Given the description of an element on the screen output the (x, y) to click on. 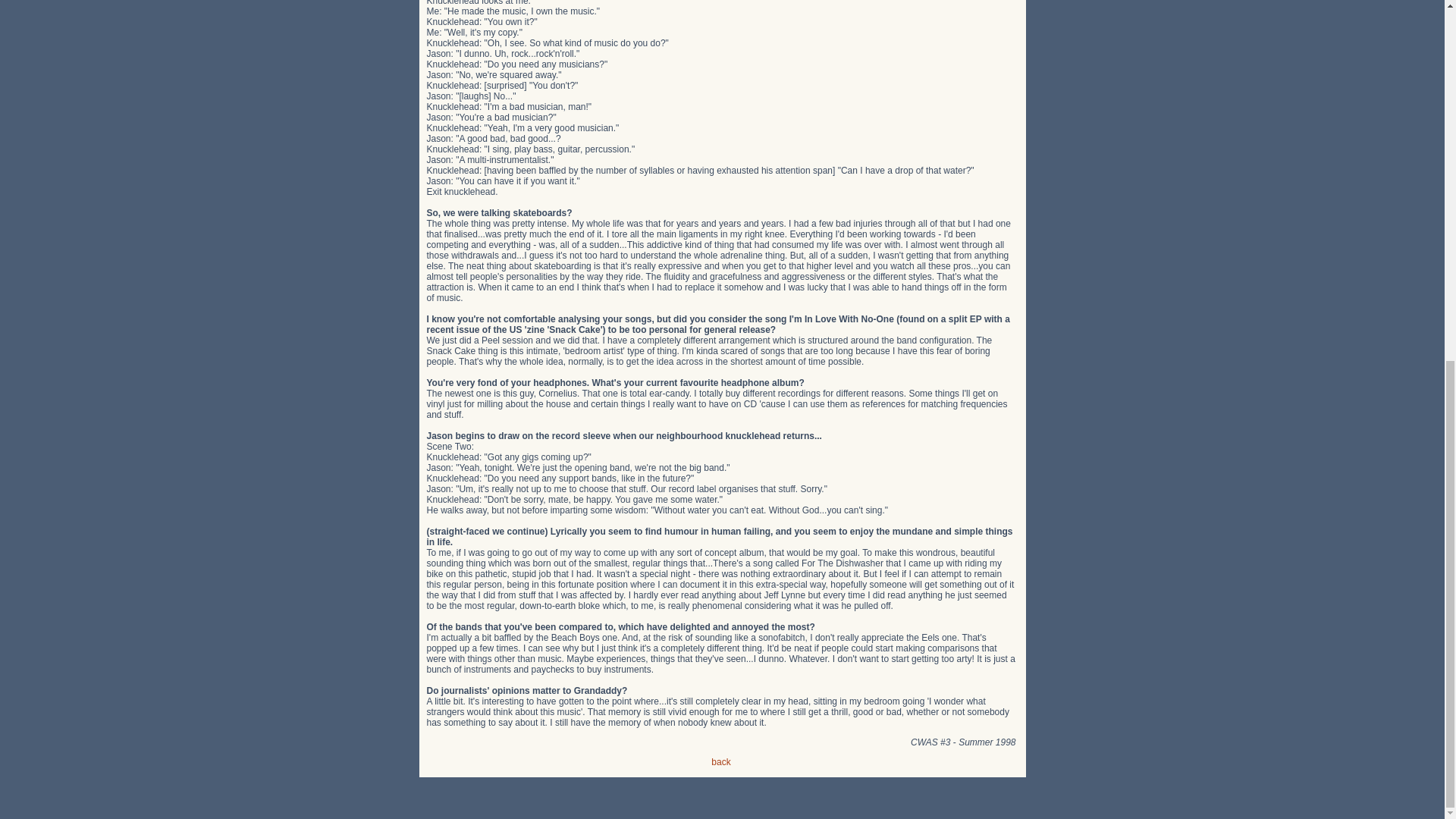
back (720, 761)
